Given the description of an element on the screen output the (x, y) to click on. 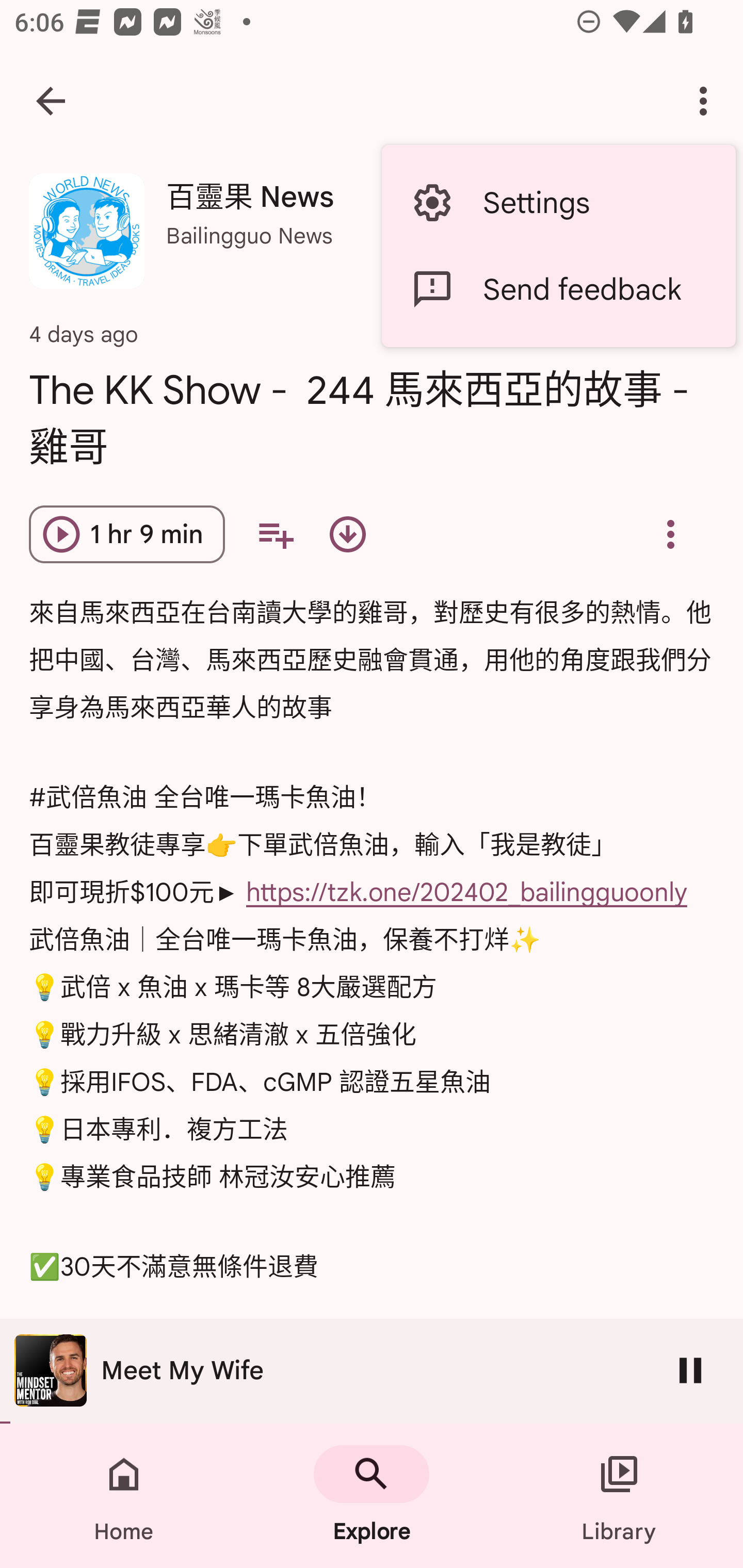
Settings (558, 202)
Send feedback (558, 289)
